Given the description of an element on the screen output the (x, y) to click on. 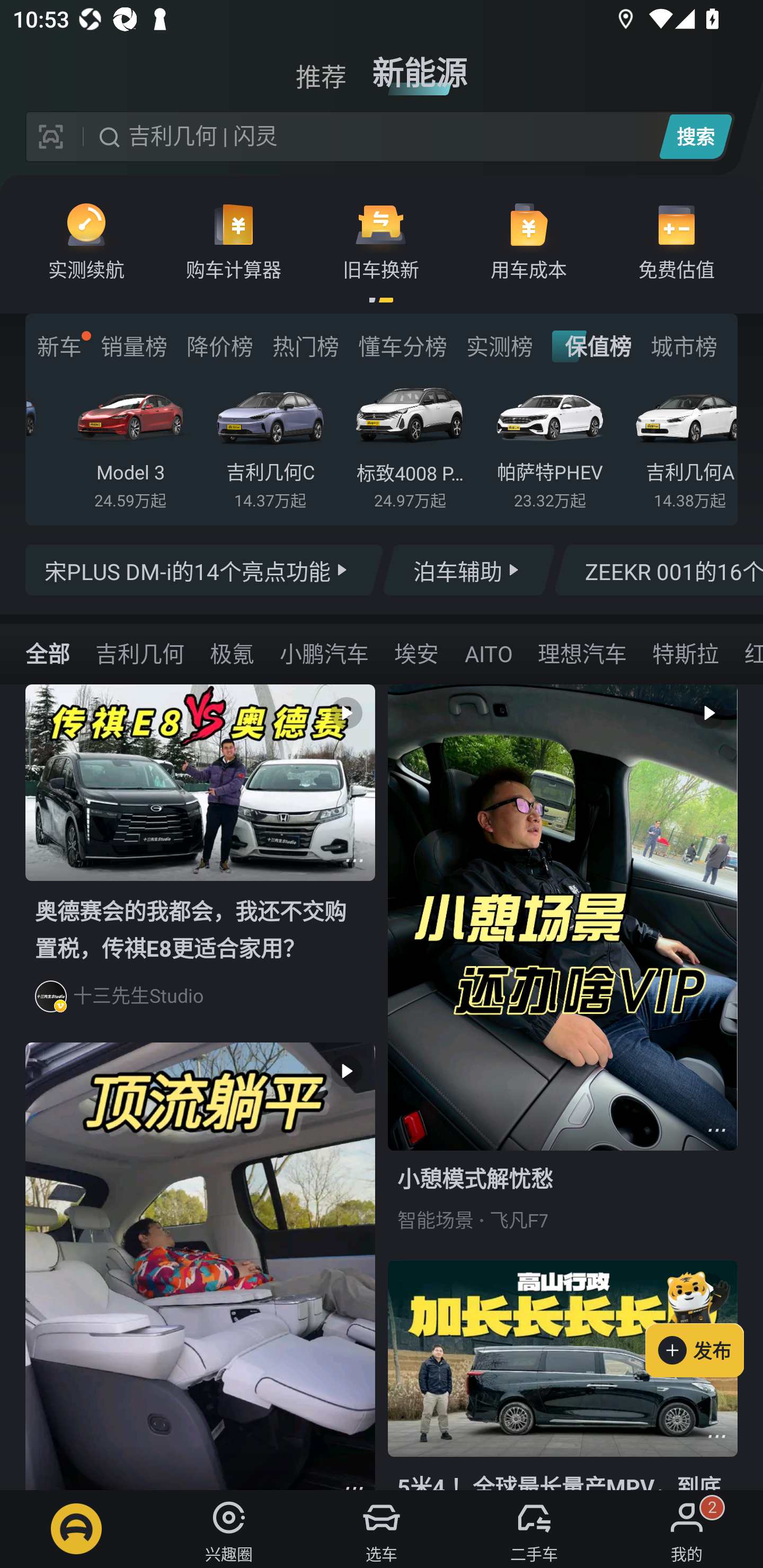
推荐 (321, 65)
新能源 (419, 65)
搜索 (695, 136)
实测续航 (86, 240)
购车计算器 (233, 240)
旧车换新 (380, 240)
用车成本 (528, 240)
免费估值 (676, 240)
新车 (59, 346)
销量榜 (133, 346)
降价榜 (219, 346)
热门榜 (305, 346)
懂车分榜 (402, 346)
实测榜 (499, 346)
保值榜 (591, 346)
城市榜 (683, 346)
AION V 15.99万起 (36, 442)
Model 3 24.59万起 (130, 442)
吉利几何C 14.37万起 (269, 442)
标致4008 PHEV 24.97万起 (409, 442)
帕萨特PHEV 23.32万起 (549, 442)
吉利几何A 14.38万起 (684, 442)
宋PLUS DM-i的14个亮点功能 (204, 569)
泊车辅助 (468, 569)
ZEEKR 001的16个亮点功能 (658, 569)
全部 (47, 652)
吉利几何 (139, 652)
极氪 (231, 652)
小鹏汽车 (324, 652)
埃安 (416, 652)
AITO (487, 652)
理想汽车 (581, 652)
特斯拉 (685, 652)
  奥德赛会的我都会，我还不交购置税，传祺E8更适合家用？ 十三先生Studio (200, 862)
  小憩模式解忧愁 智能场景 飞凡F7 (562, 971)
 (354, 860)
  (200, 1265)
 (716, 1130)
飞凡F7 (518, 1220)
  5米4 ！全球最长量产MPV，到底好不好开？ (562, 1374)
发布 (704, 1320)
 (716, 1436)
 兴趣圈 (228, 1528)
 选车 (381, 1528)
 二手车 (533, 1528)
 我的 (686, 1528)
